Given the description of an element on the screen output the (x, y) to click on. 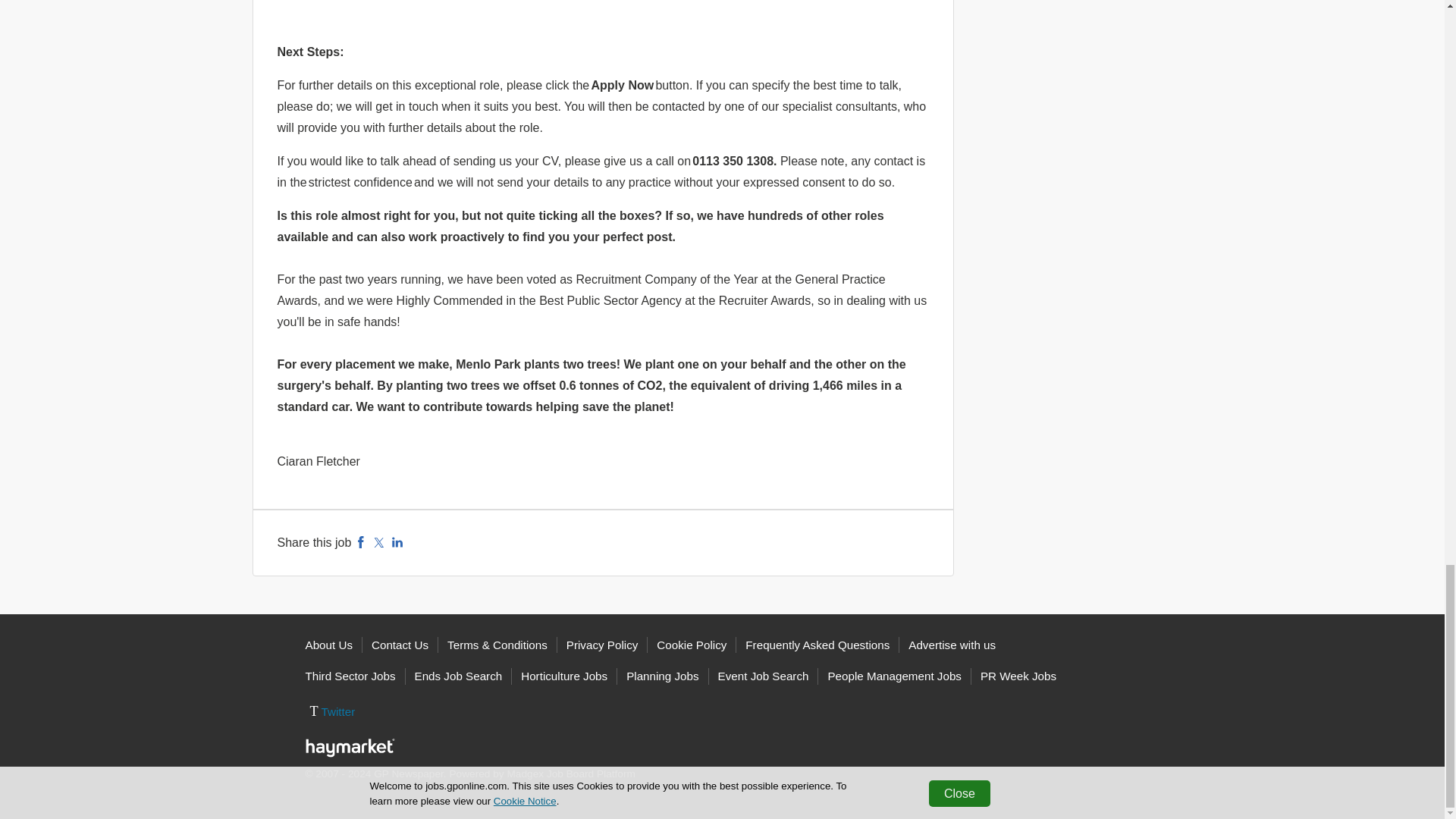
LinkedIn (397, 542)
Facebook (360, 542)
Twitter (378, 542)
